Given the description of an element on the screen output the (x, y) to click on. 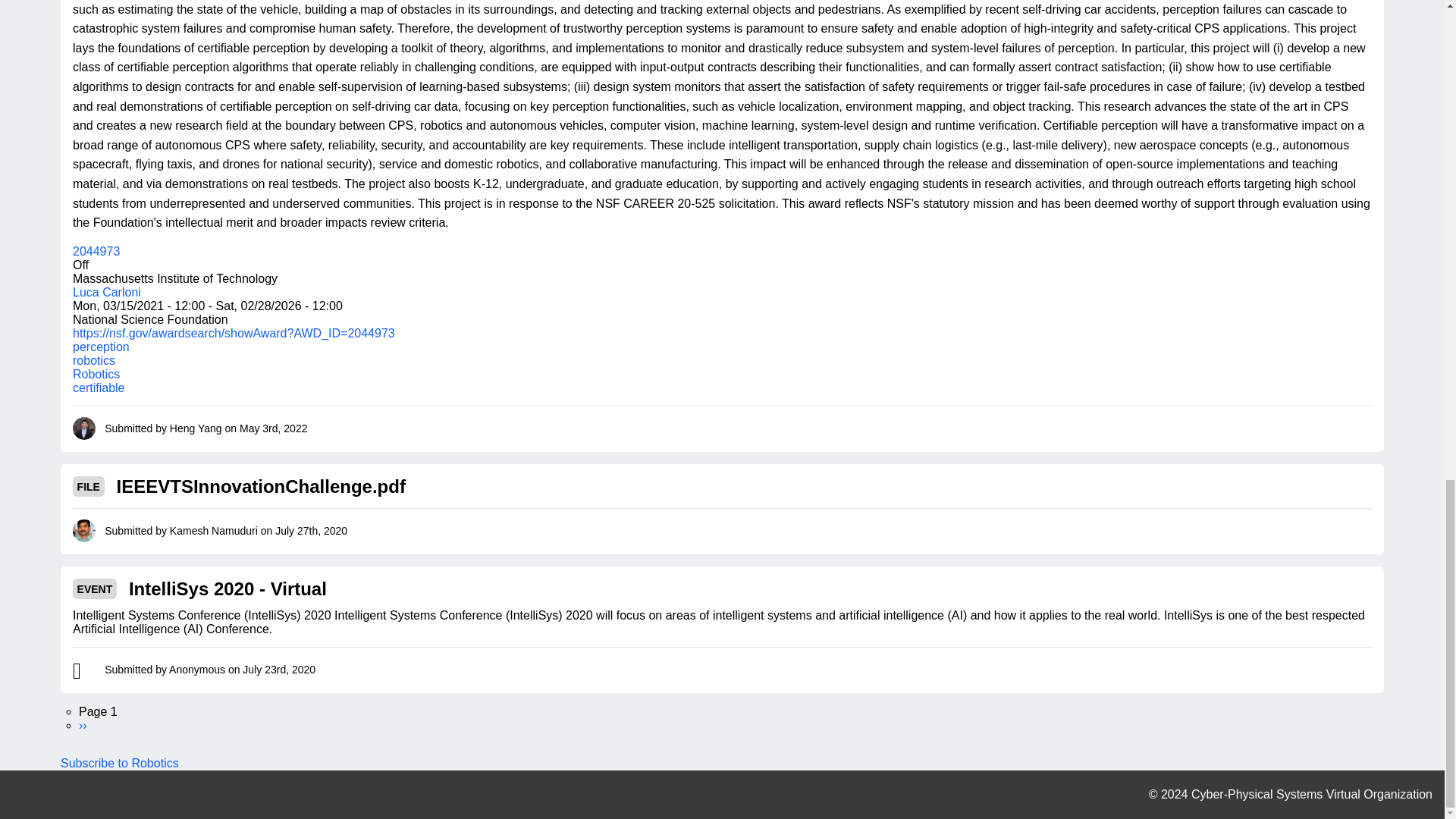
IEEEVTSInnovationChallenge.pdf (261, 486)
certifiable (97, 387)
2044973 (95, 250)
perception (100, 346)
Luca Carloni (106, 291)
Subscribe to Robotics (120, 762)
robotics (93, 359)
Robotics (95, 373)
IntelliSys 2020 - Virtual (227, 588)
